Given the description of an element on the screen output the (x, y) to click on. 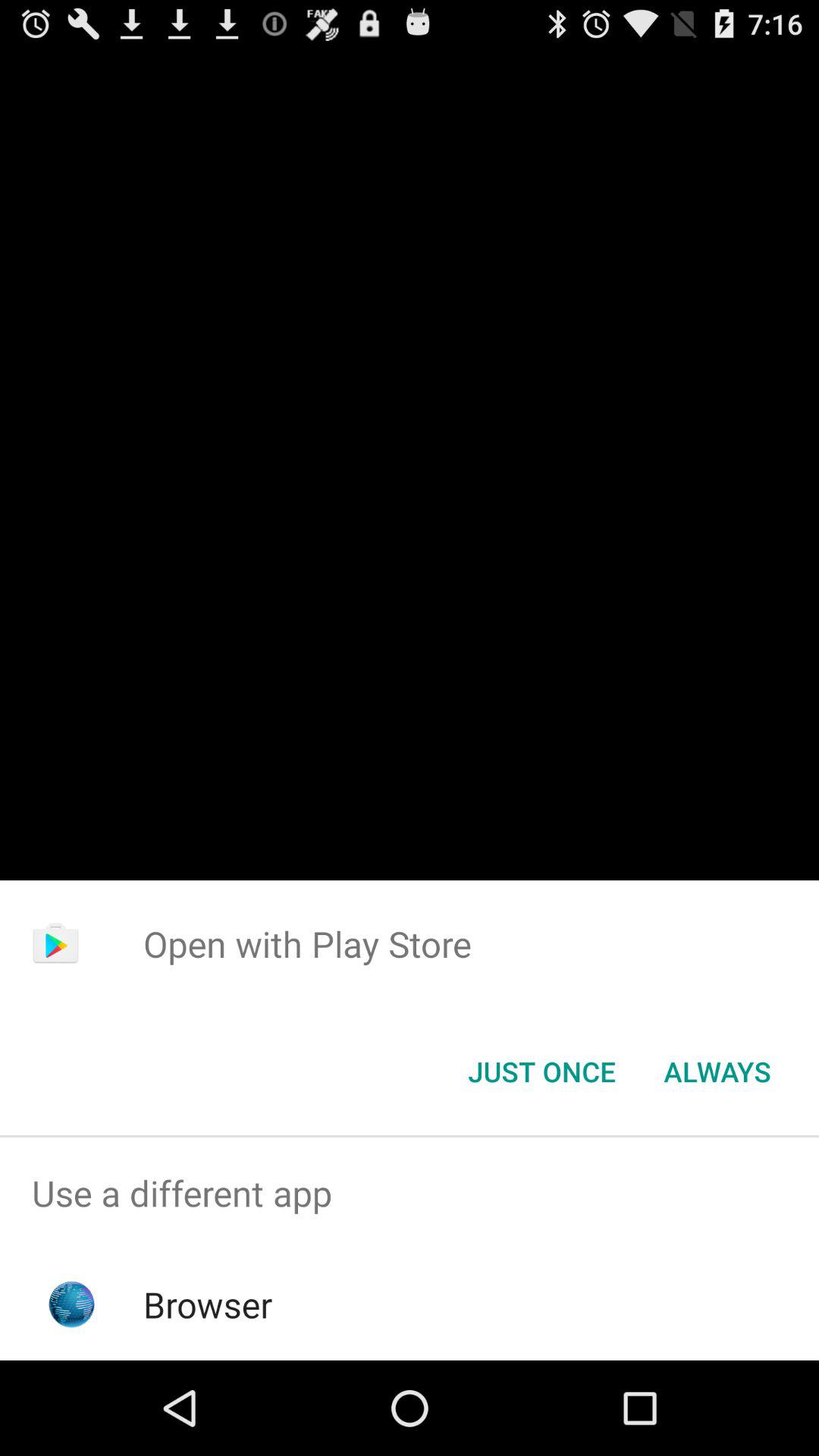
click item next to the just once icon (717, 1071)
